Given the description of an element on the screen output the (x, y) to click on. 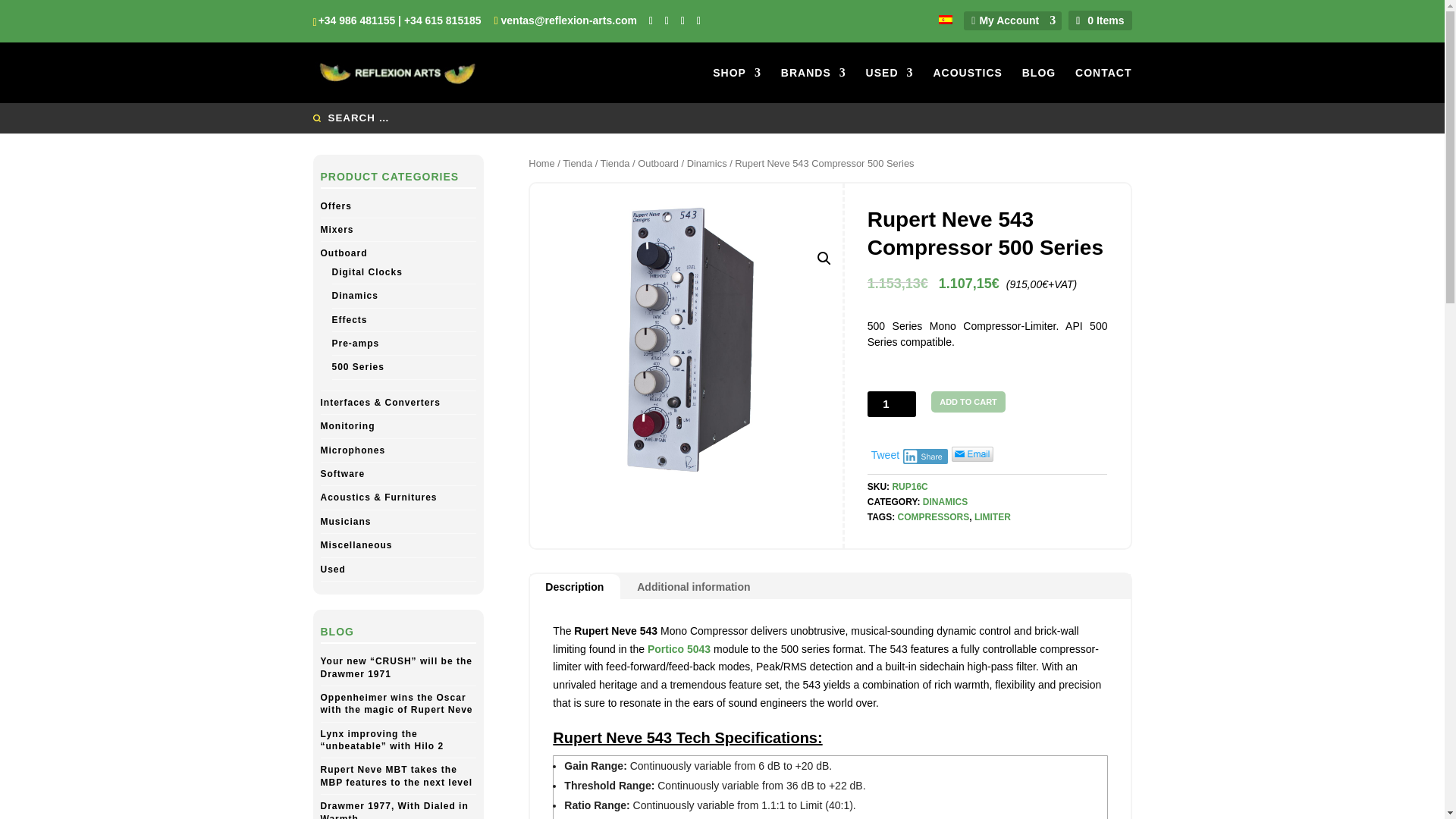
BRANDS (812, 84)
0 Items (1098, 20)
Rupert Neve 543 (685, 339)
1 (892, 403)
My Account (1008, 20)
Search for: (722, 118)
SHOP (737, 84)
